Given the description of an element on the screen output the (x, y) to click on. 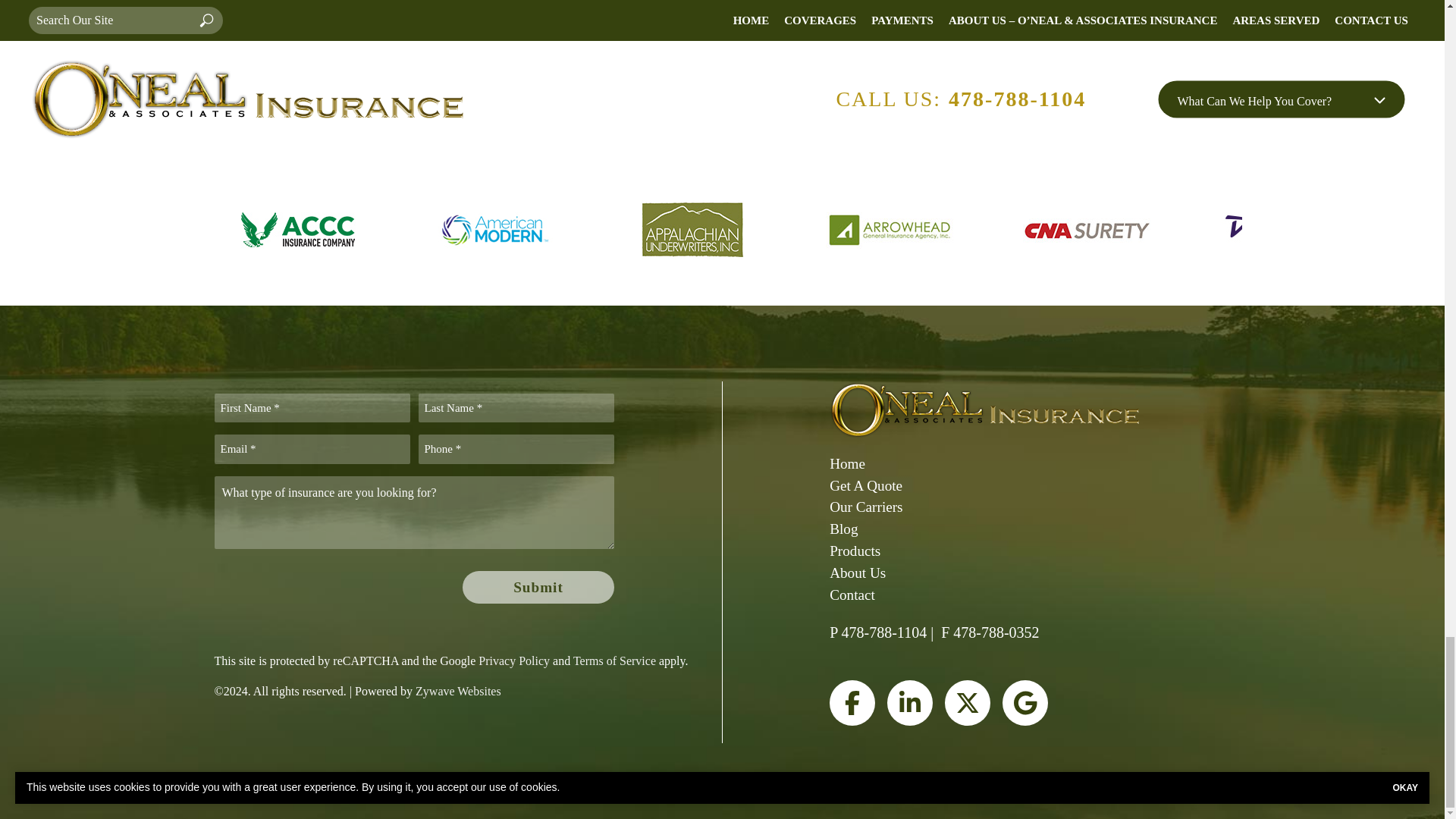
Insurance Website Builder (457, 690)
Submit (538, 586)
